Given the description of an element on the screen output the (x, y) to click on. 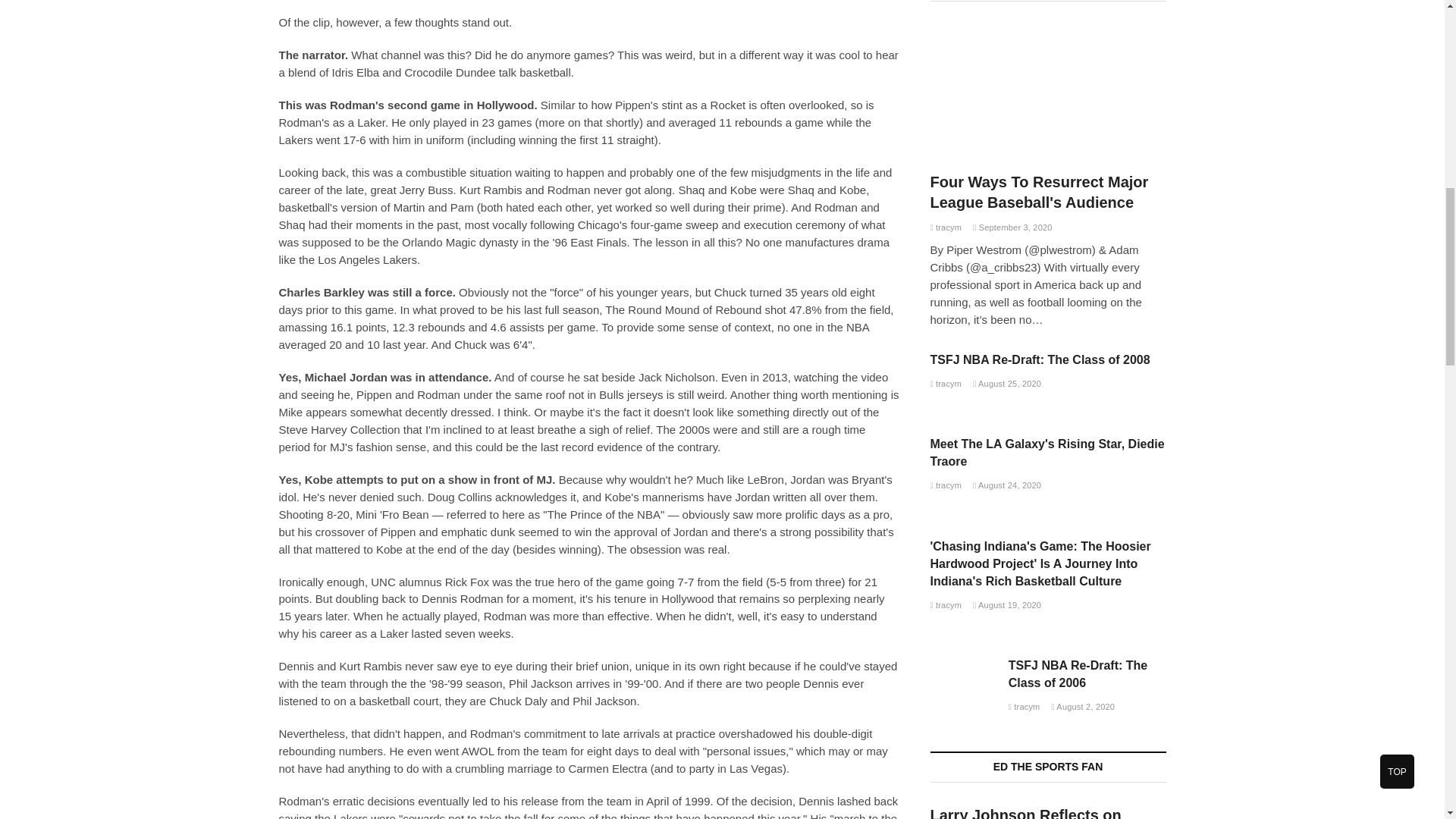
TSFJ NBA Re-Draft: The Class of 2008 (945, 383)
Four Ways To Resurrect Major League Baseball's Audience (1048, 90)
Four Ways To Resurrect Major League Baseball's Audience (945, 226)
TSFJ NBA Re-Draft: The Class of 2008 (1040, 359)
September 3, 2020 (1011, 226)
Four Ways To Resurrect Major League Baseball's Audience (1039, 191)
